Given the description of an element on the screen output the (x, y) to click on. 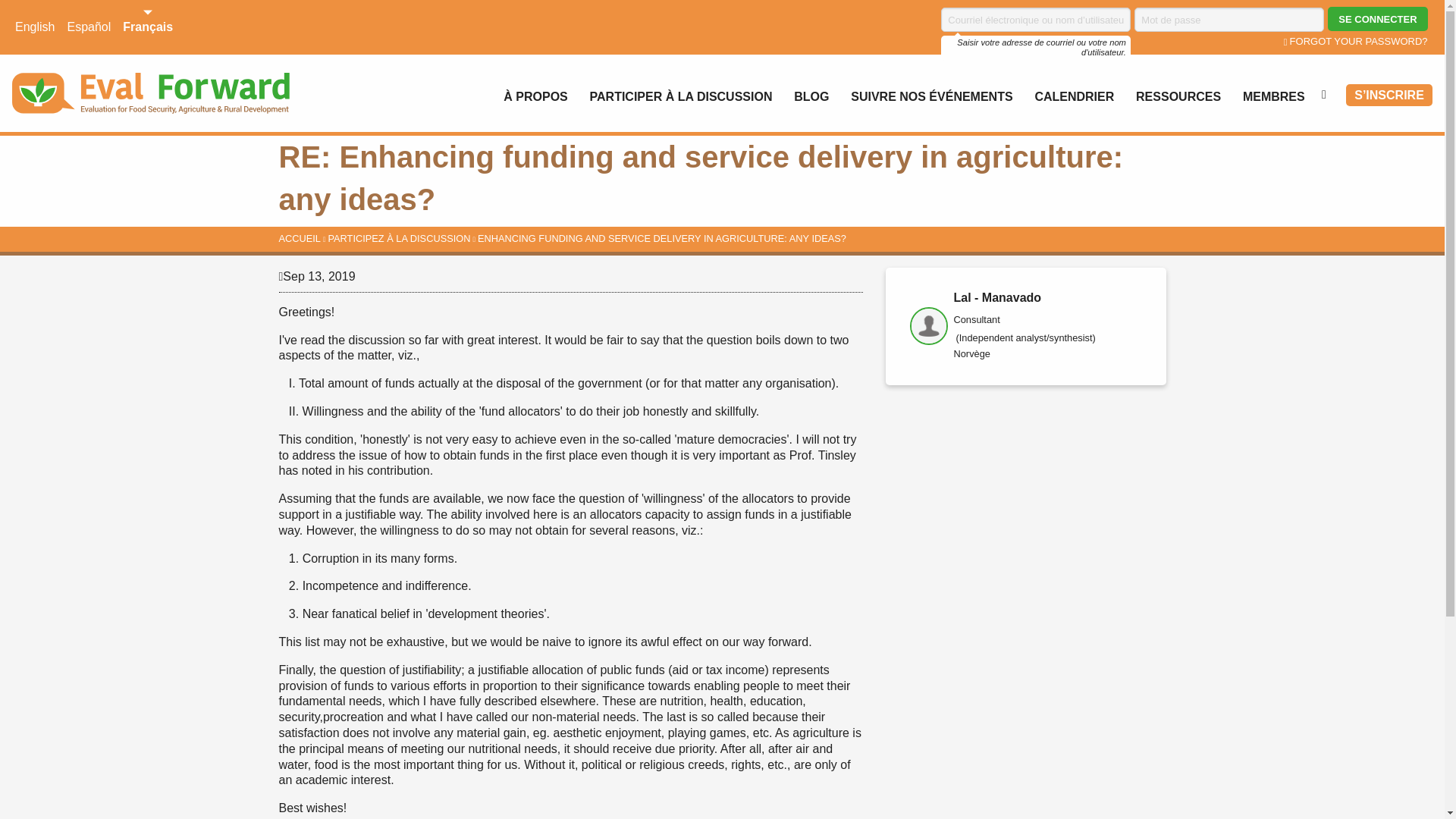
CALENDRIER (1074, 96)
English (34, 26)
FORGOT YOUR PASSWORD? (1356, 41)
BLOG (811, 96)
Se connecter (1376, 18)
RESSOURCES (1178, 96)
Se connecter (1376, 18)
MEMBRES (1272, 96)
SEARCH (1327, 94)
ACCUEIL (299, 238)
